Given the description of an element on the screen output the (x, y) to click on. 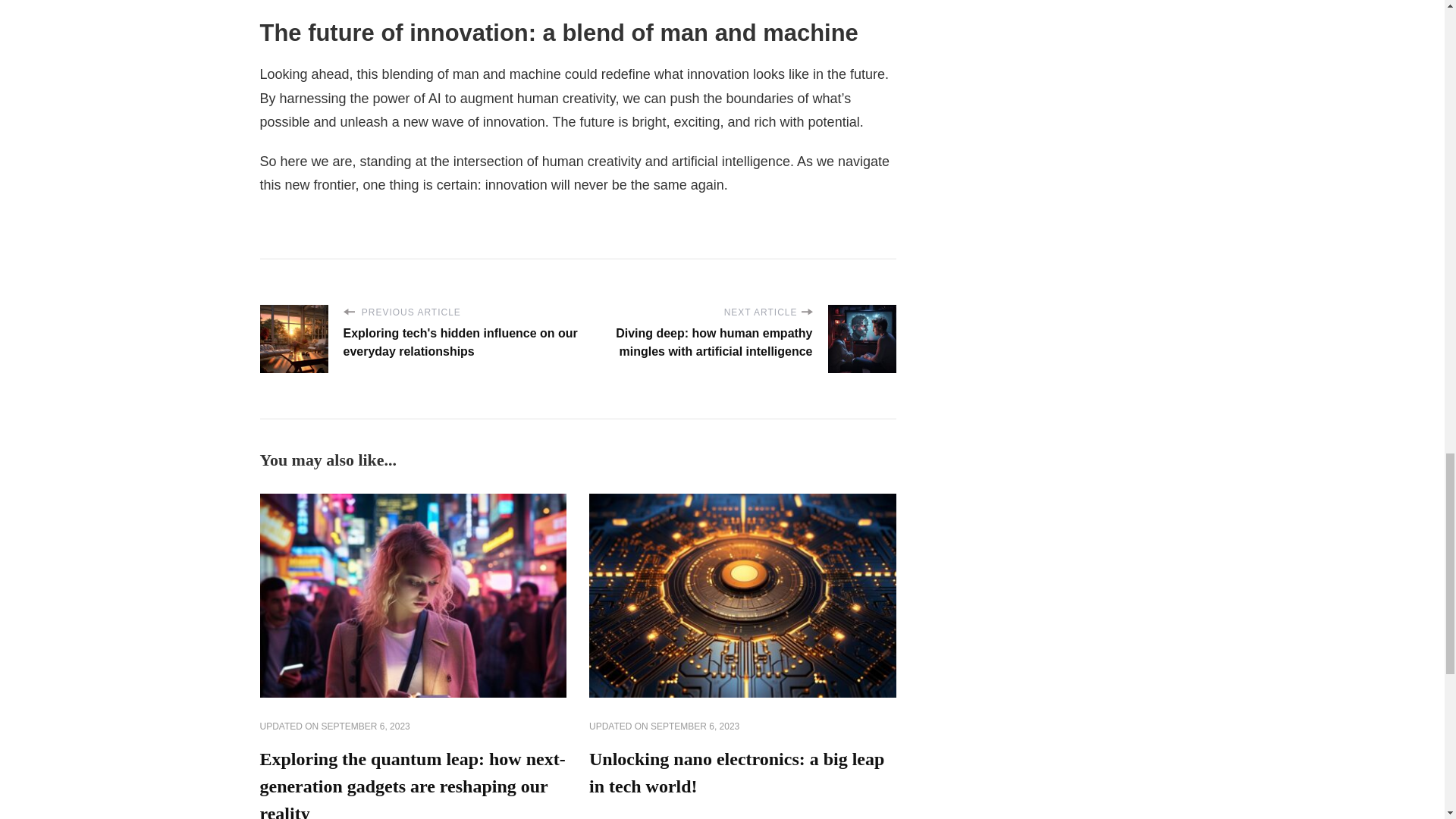
Unlocking nano electronics: a big leap in tech world! (736, 772)
SEPTEMBER 6, 2023 (365, 726)
SEPTEMBER 6, 2023 (694, 726)
